Given the description of an element on the screen output the (x, y) to click on. 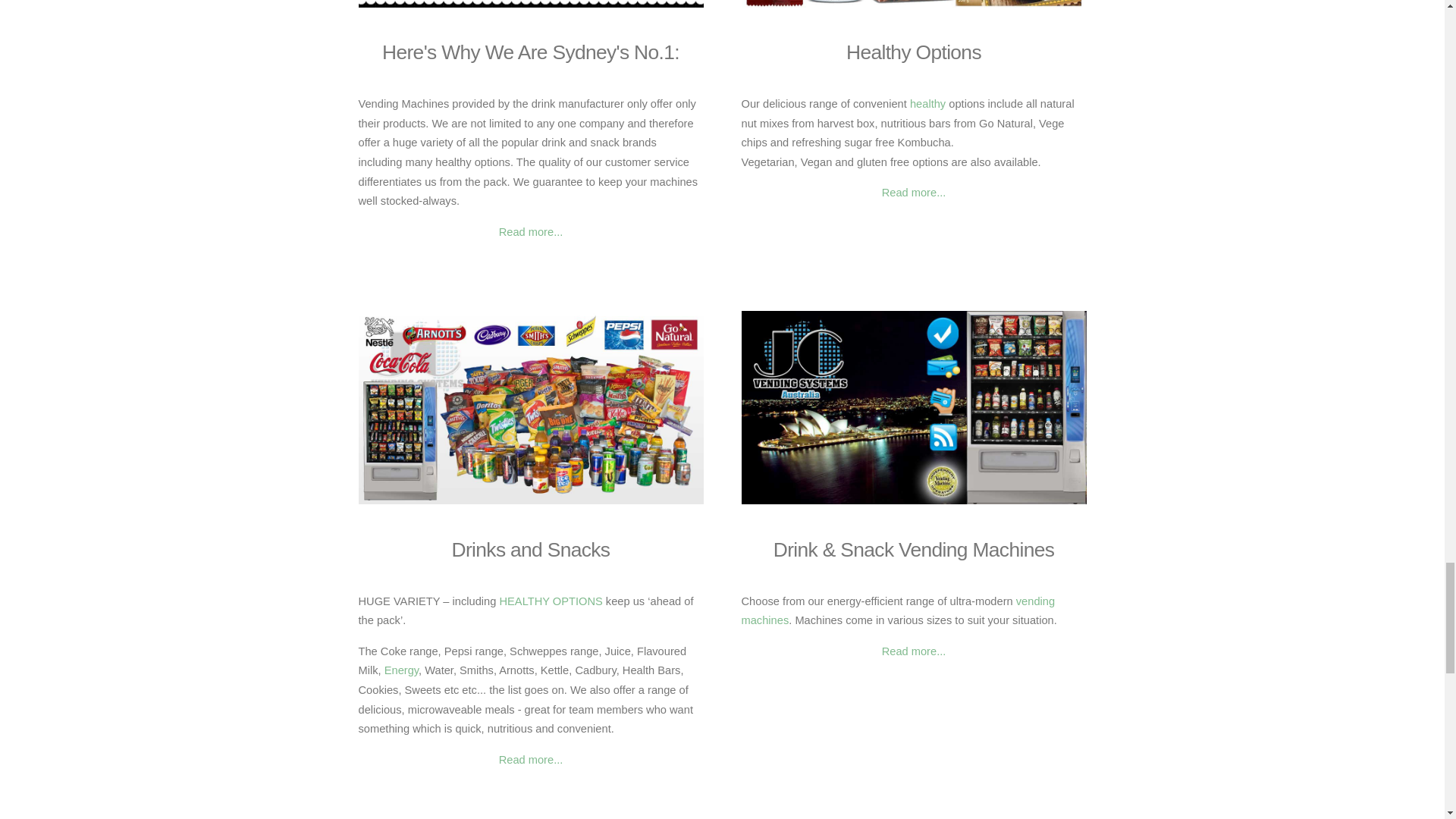
Energy (401, 670)
Read more... (531, 759)
healthy (927, 103)
Read more... (914, 192)
Read more... (914, 651)
HEALTHY OPTIONS (550, 601)
vending machines (898, 611)
Read more... (531, 232)
